Given the description of an element on the screen output the (x, y) to click on. 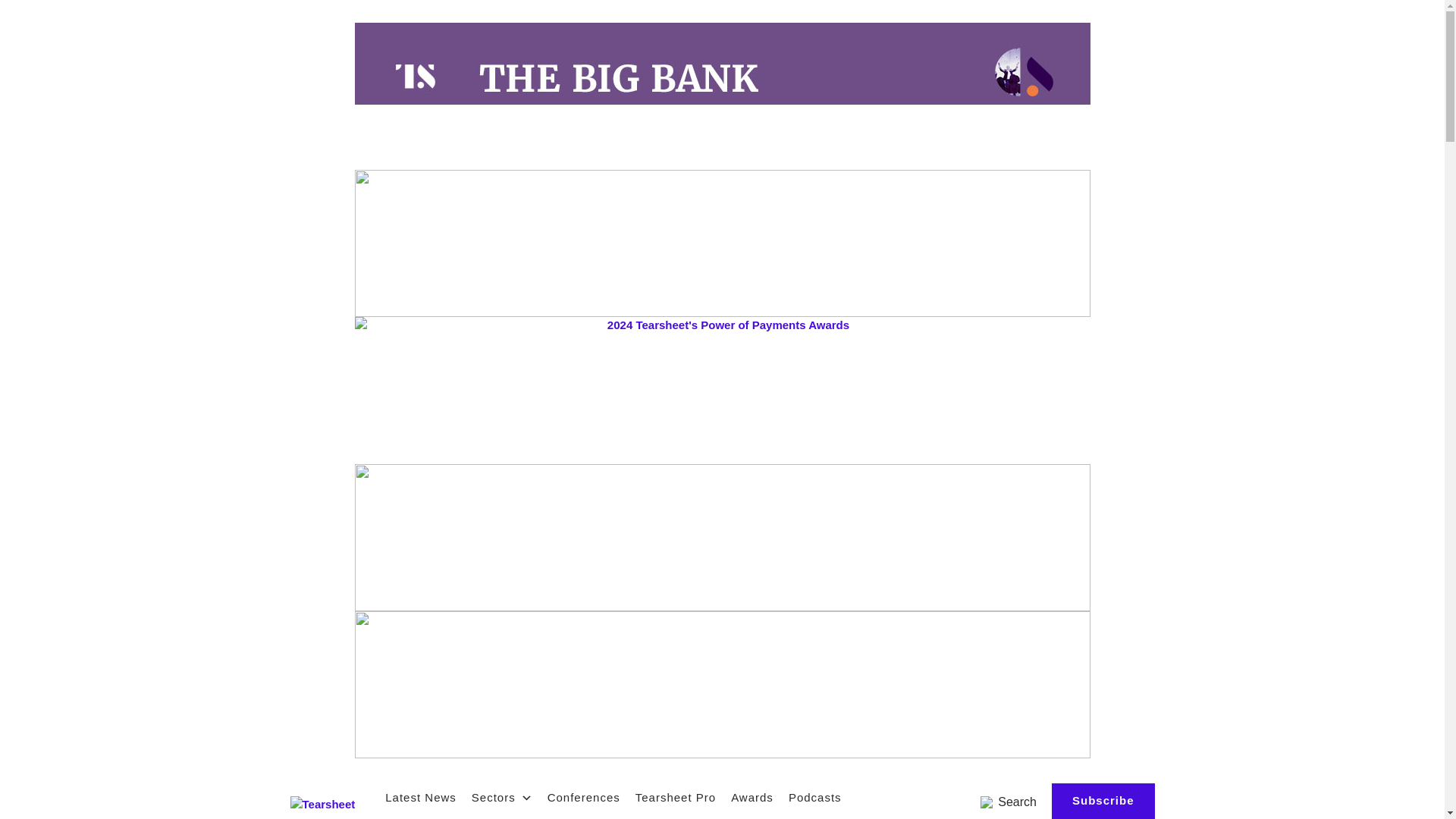
Conferences (583, 797)
Podcasts (814, 797)
Latest News (420, 797)
Sectors (502, 797)
Tearsheet Pro (675, 797)
Subscribe (1102, 800)
Subscribe (1102, 800)
Awards (751, 797)
Tearsheet (322, 805)
Search (1007, 802)
